Given the description of an element on the screen output the (x, y) to click on. 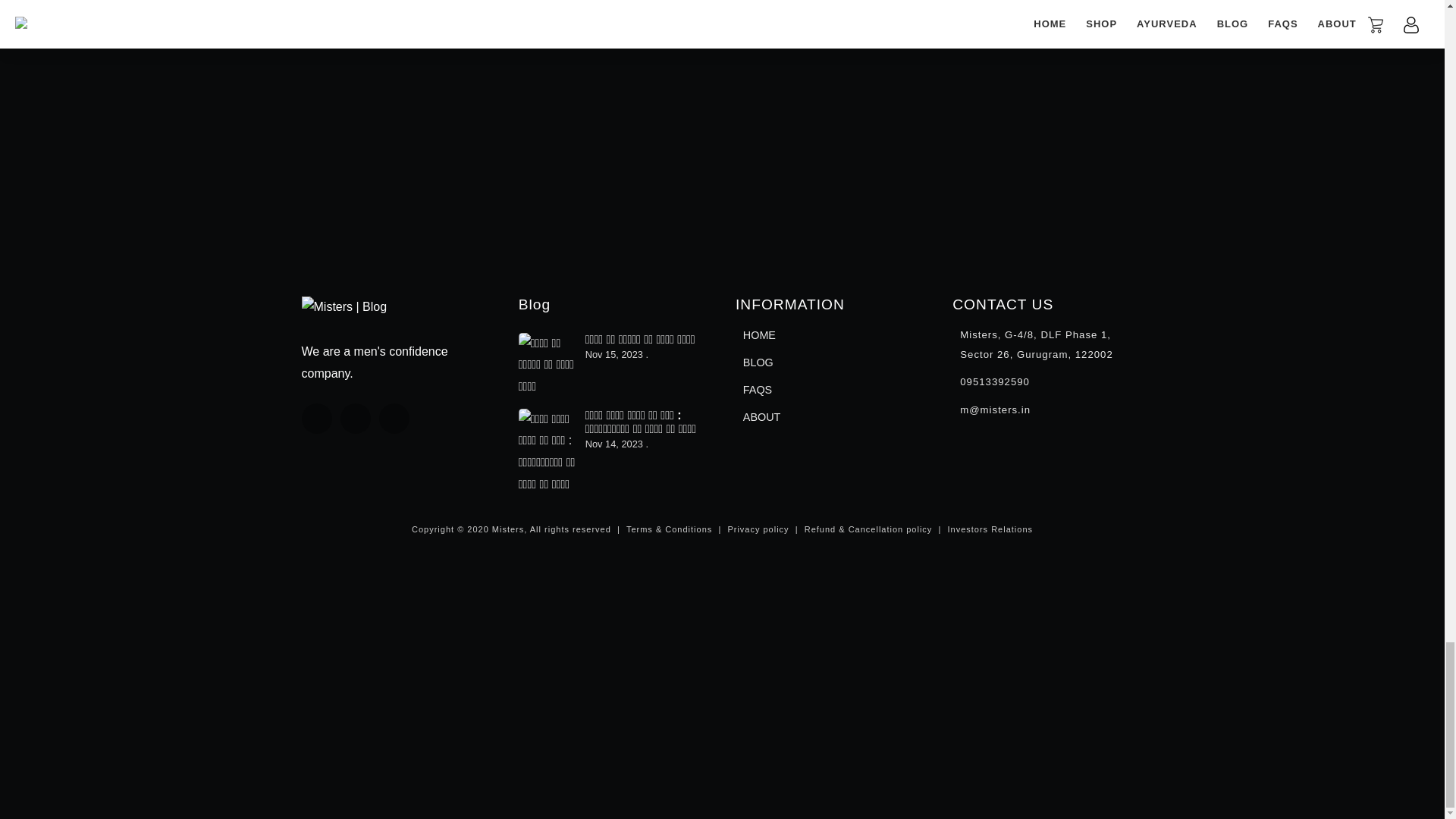
HOME (758, 334)
linkedin (355, 418)
FAQS (757, 389)
BLOG (758, 362)
instagram (393, 418)
Privacy policy (757, 529)
ABOUT (761, 416)
Blog (534, 304)
facebook (316, 418)
